Given the description of an element on the screen output the (x, y) to click on. 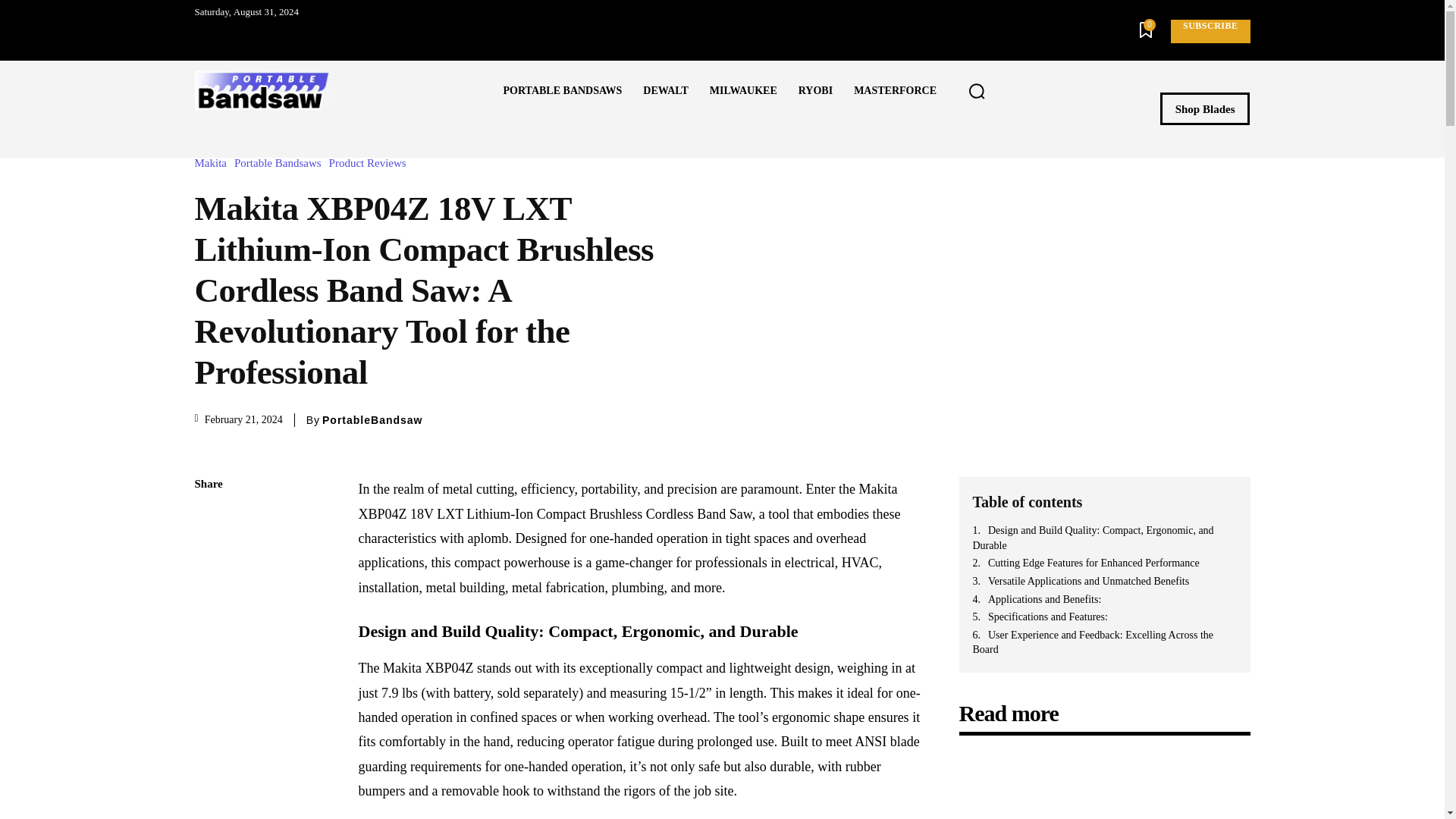
PORTABLE BANDSAWS (563, 90)
Shop Blades (1205, 108)
MASTERFORCE (895, 90)
RYOBI (815, 90)
Makita (213, 163)
DEWALT (664, 90)
MILWAUKEE (742, 90)
PortableBandsaw (371, 419)
Design and Build Quality: Compact, Ergonomic, and Durable (1104, 537)
Subscribe (1210, 31)
